Given the description of an element on the screen output the (x, y) to click on. 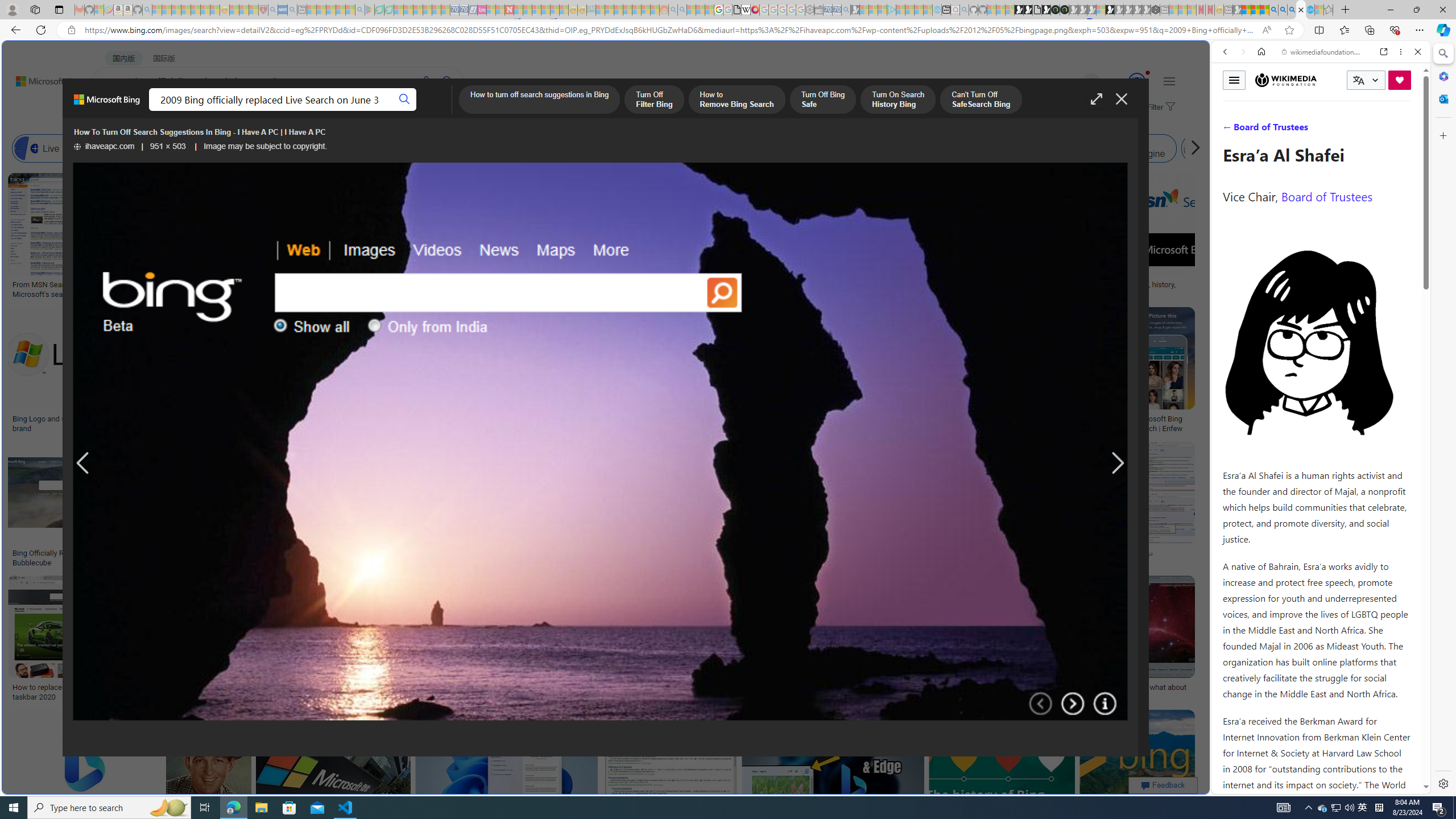
DICT (407, 111)
Local - MSN - Sleeping (253, 9)
microsoft bingSave (1045, 371)
microsoft bing (1043, 419)
Bing Logo and symbol, meaning, history, PNG, brand (97, 423)
Cheap Car Rentals - Save70.com - Sleeping (836, 9)
AutomationID: rh_meter (1136, 80)
Bing Logo Design Evolution 2009 to 2016 | Smithographic (586, 288)
